Given the description of an element on the screen output the (x, y) to click on. 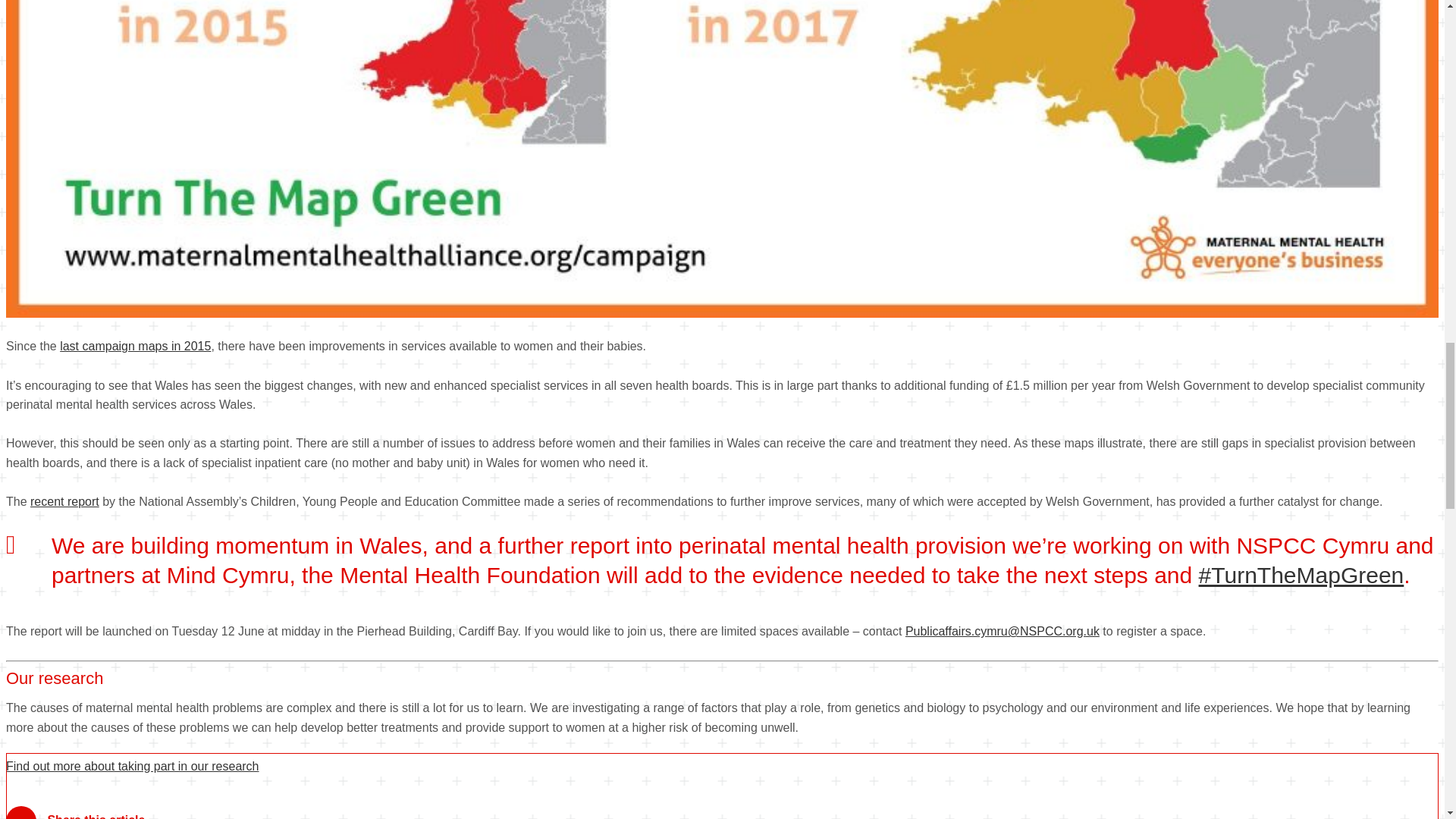
last campaign maps in 2015 (135, 345)
recent report (64, 501)
Share this article (74, 812)
Find out more about taking part in our research (132, 766)
